Given the description of an element on the screen output the (x, y) to click on. 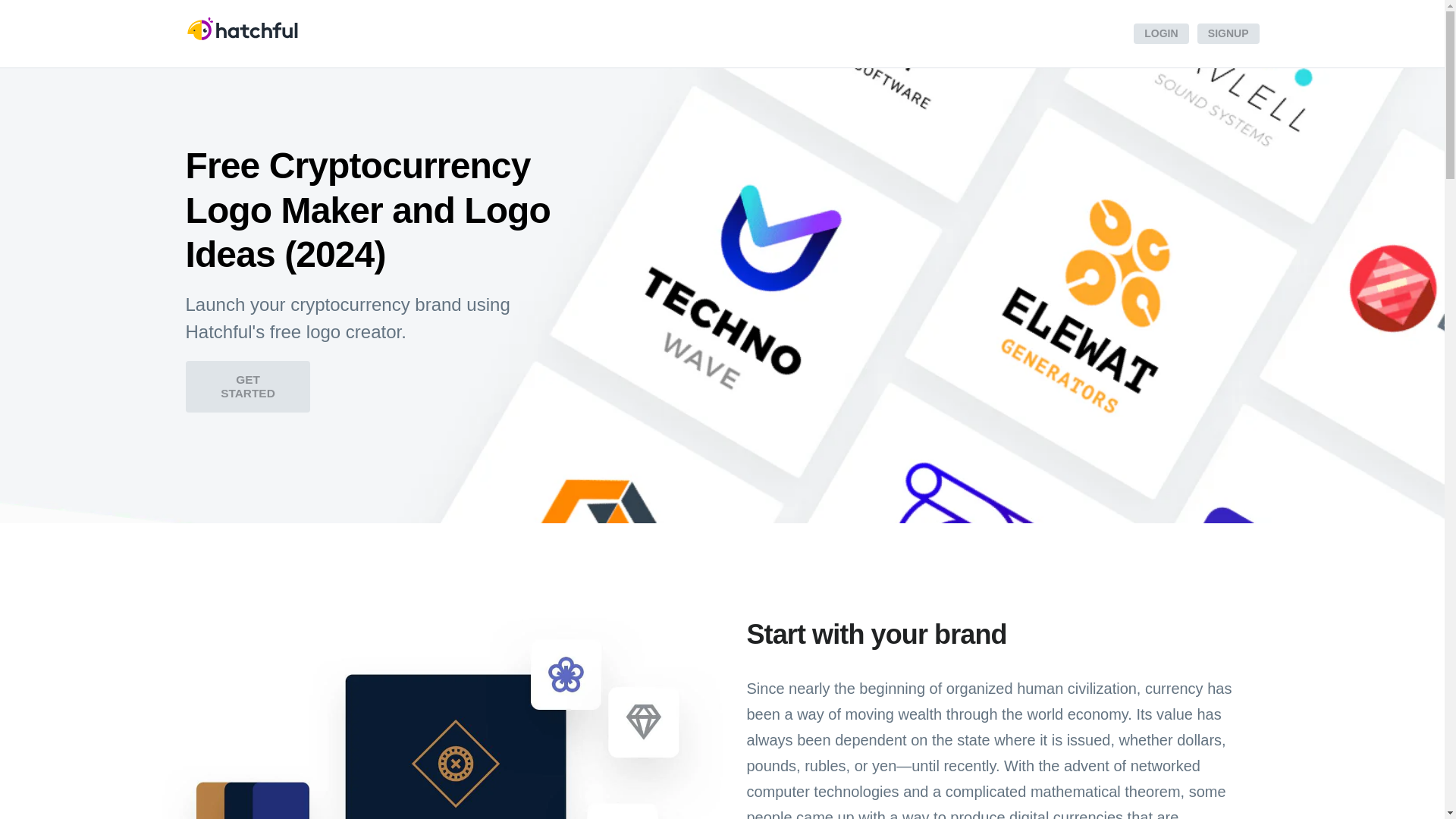
GET STARTED (247, 386)
LOGIN (1161, 33)
SIGNUP (1227, 33)
Free Logo Maker by Shopify (241, 30)
